Given the description of an element on the screen output the (x, y) to click on. 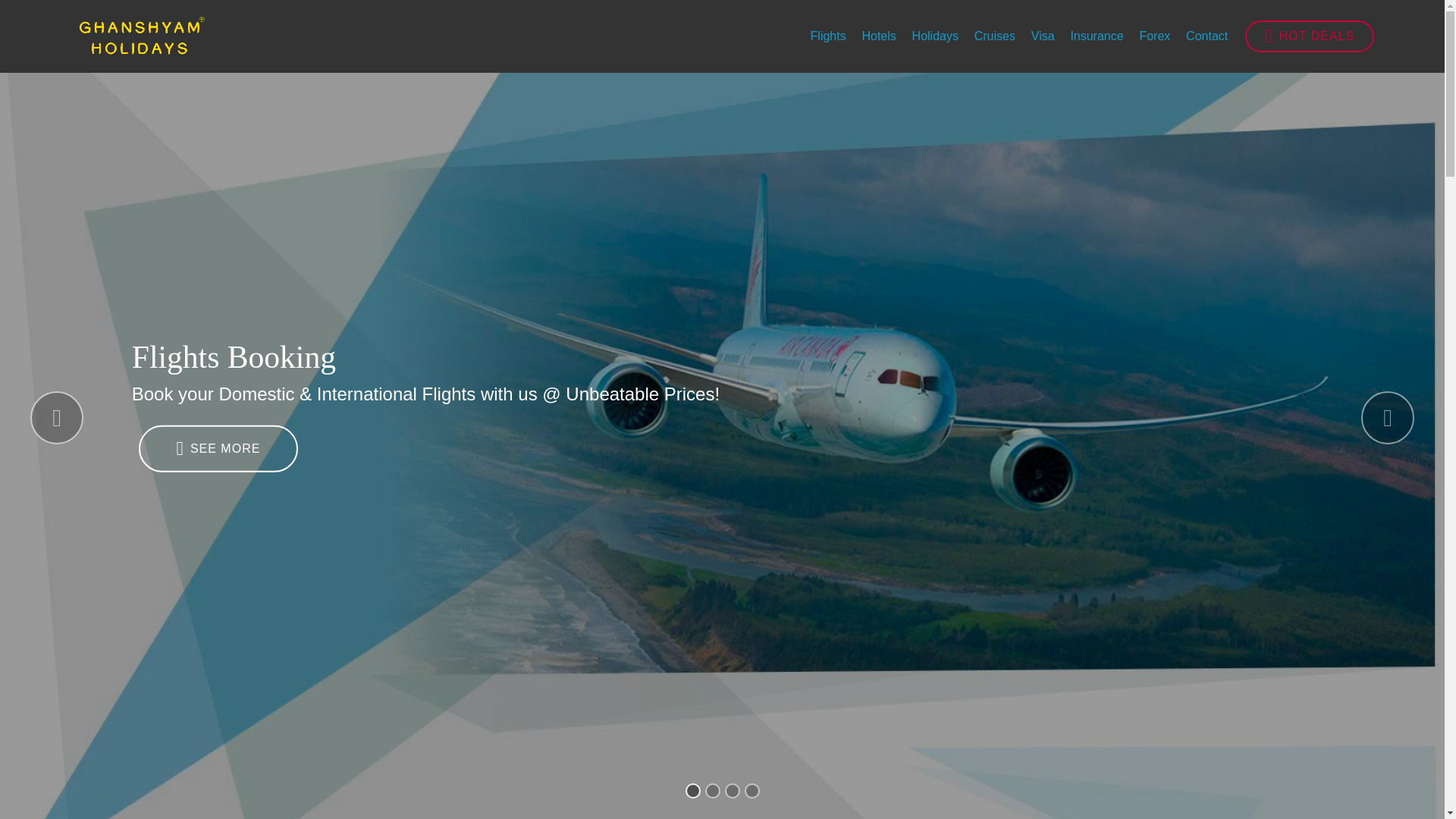
Holidays (935, 36)
Contact (1206, 36)
Hotels (878, 36)
Next (1387, 417)
SEE MORE (218, 448)
HOT DEALS (1309, 36)
Previous (56, 417)
Flights (827, 36)
Cruises (994, 36)
Forex (1154, 36)
